Given the description of an element on the screen output the (x, y) to click on. 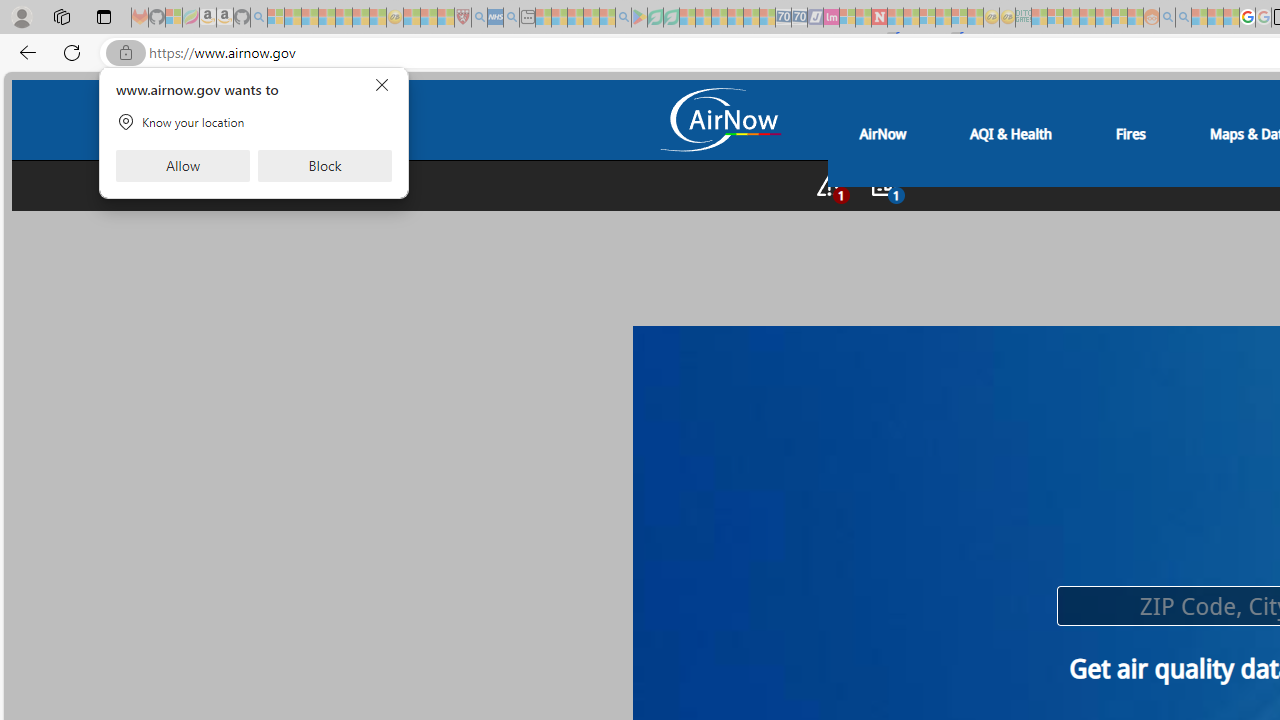
Block (324, 165)
AutomationID: nav-alerts-toggle (829, 185)
